Given the description of an element on the screen output the (x, y) to click on. 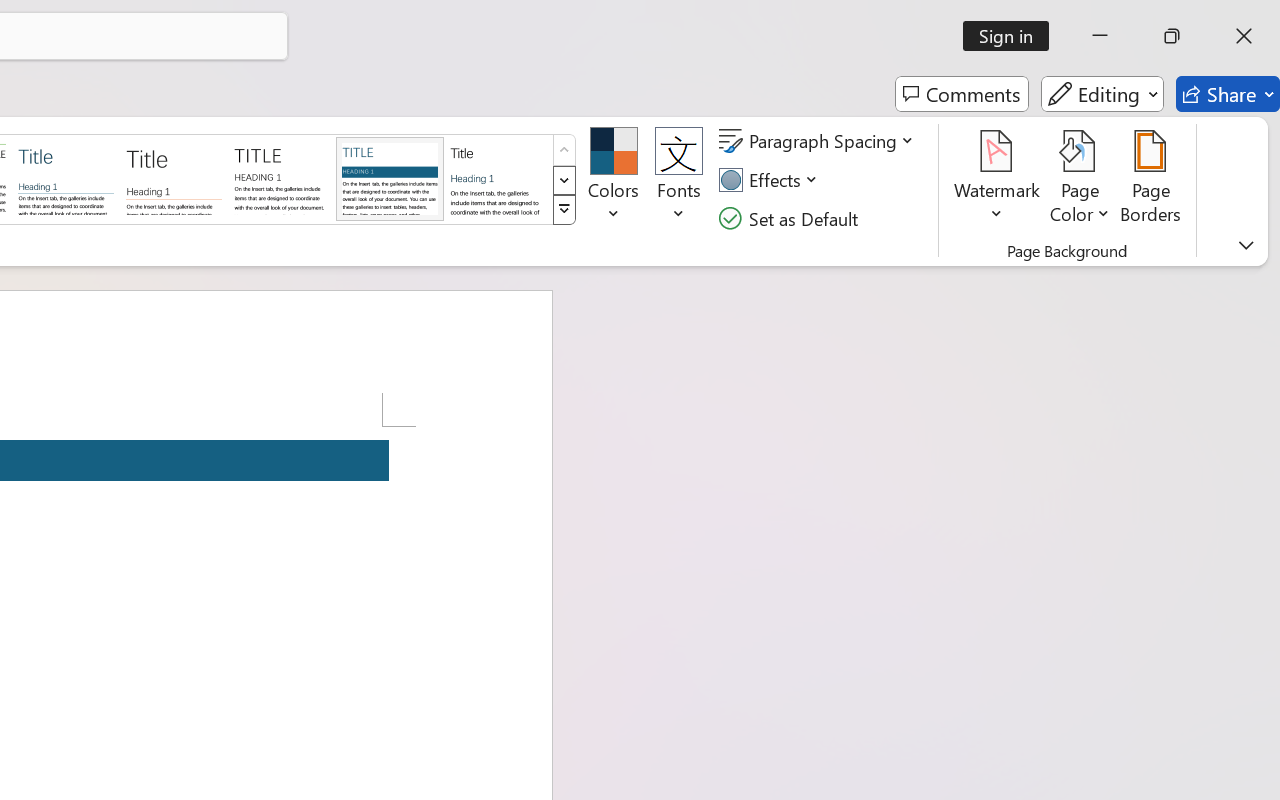
Colors (613, 179)
Sign in (1012, 35)
Effects (771, 179)
Set as Default (791, 218)
Shaded (389, 178)
Page Color (1080, 179)
